Given the description of an element on the screen output the (x, y) to click on. 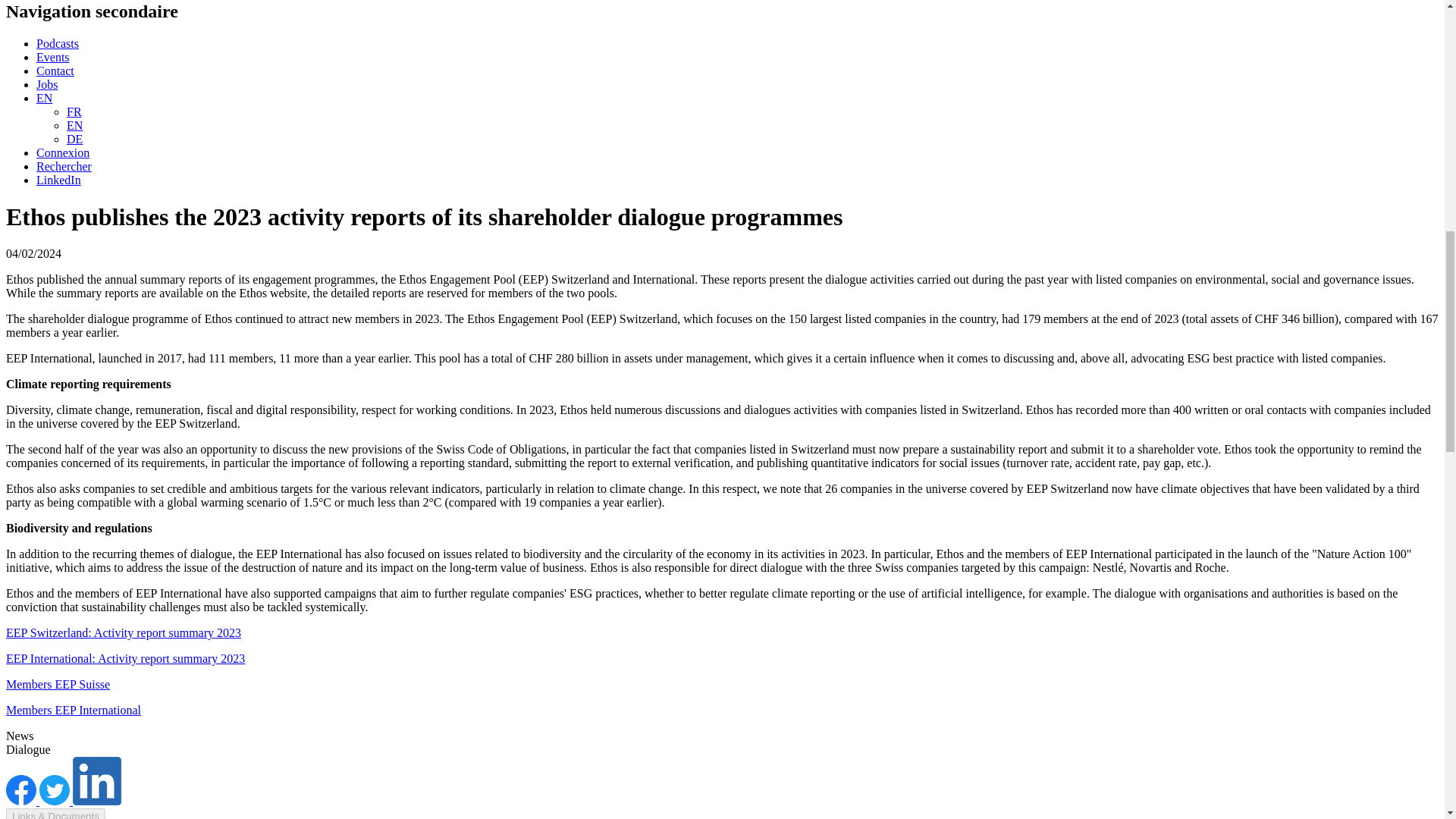
Rechercher (63, 165)
EEP International: Activity report summary 2023 (124, 658)
Members EEP Suisse (57, 684)
DE (74, 138)
Events (52, 56)
Members EEP International (73, 709)
Jobs (47, 83)
EEP Switzerland: Activity report summary 2023 (123, 632)
Podcasts (57, 42)
EN (44, 97)
FR (73, 111)
Connexion (62, 152)
LinkedIn (58, 179)
EN (74, 124)
Contact (55, 70)
